Given the description of an element on the screen output the (x, y) to click on. 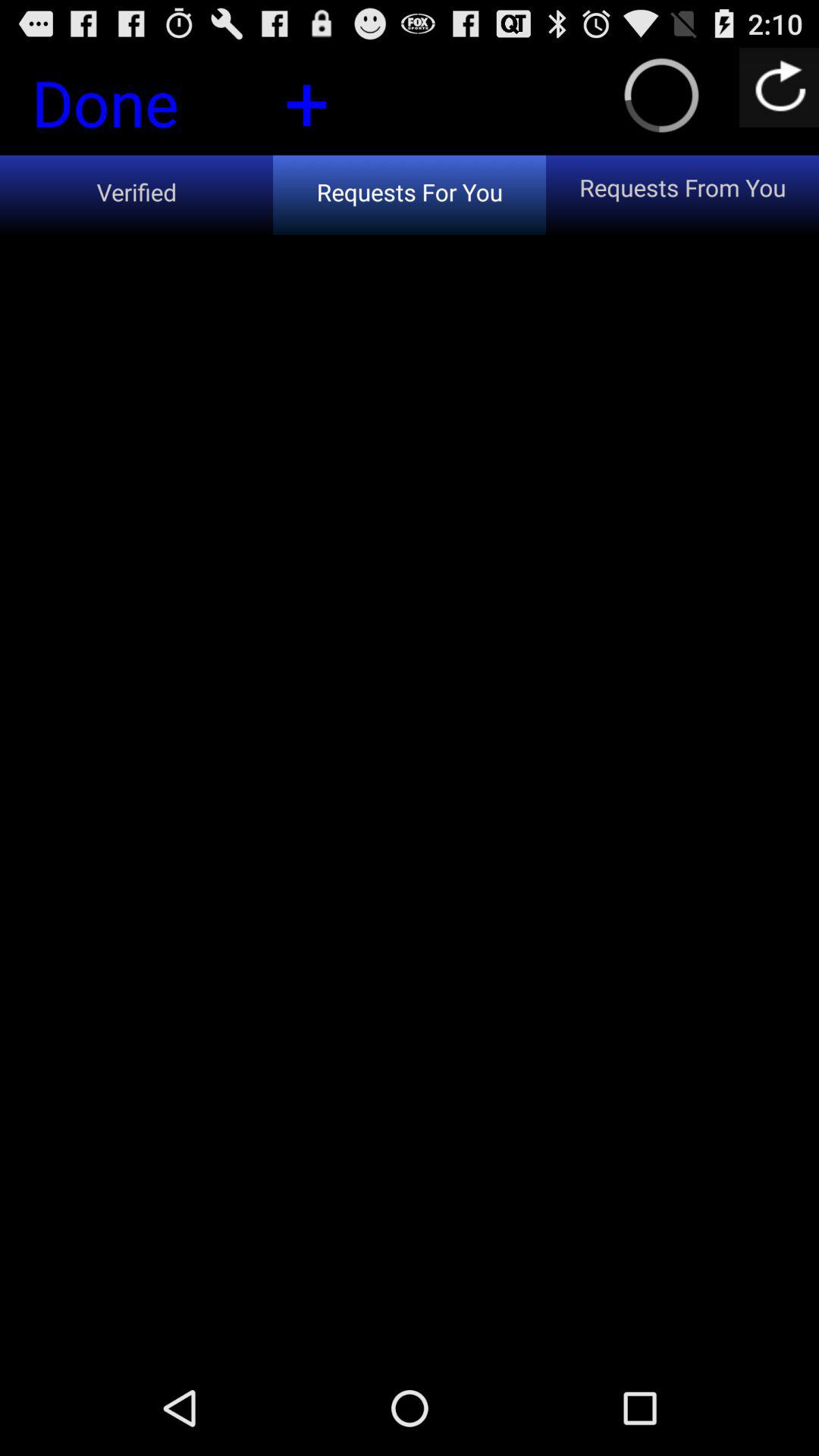
press the + item (306, 100)
